Given the description of an element on the screen output the (x, y) to click on. 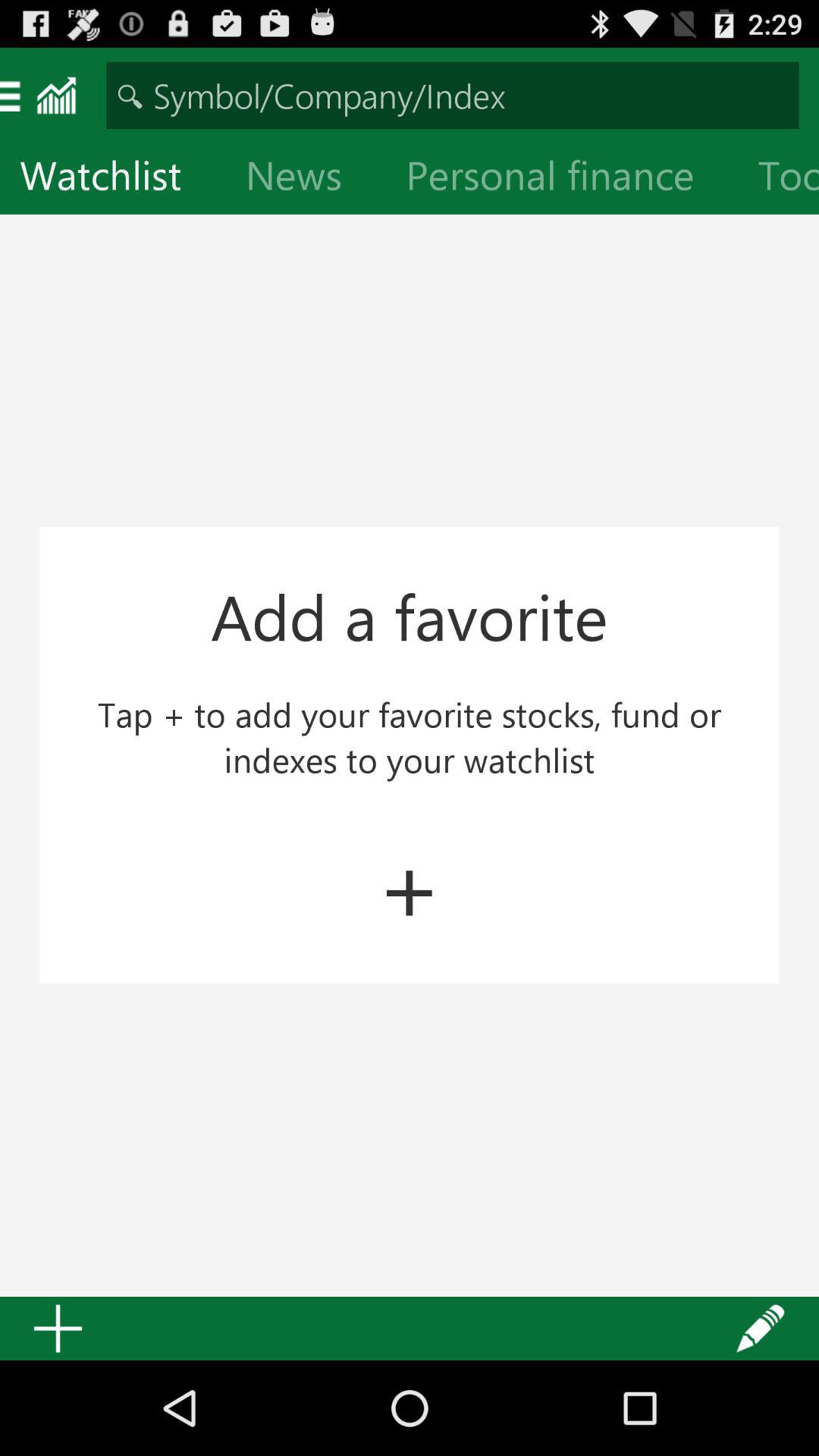
tap news item (305, 178)
